Given the description of an element on the screen output the (x, y) to click on. 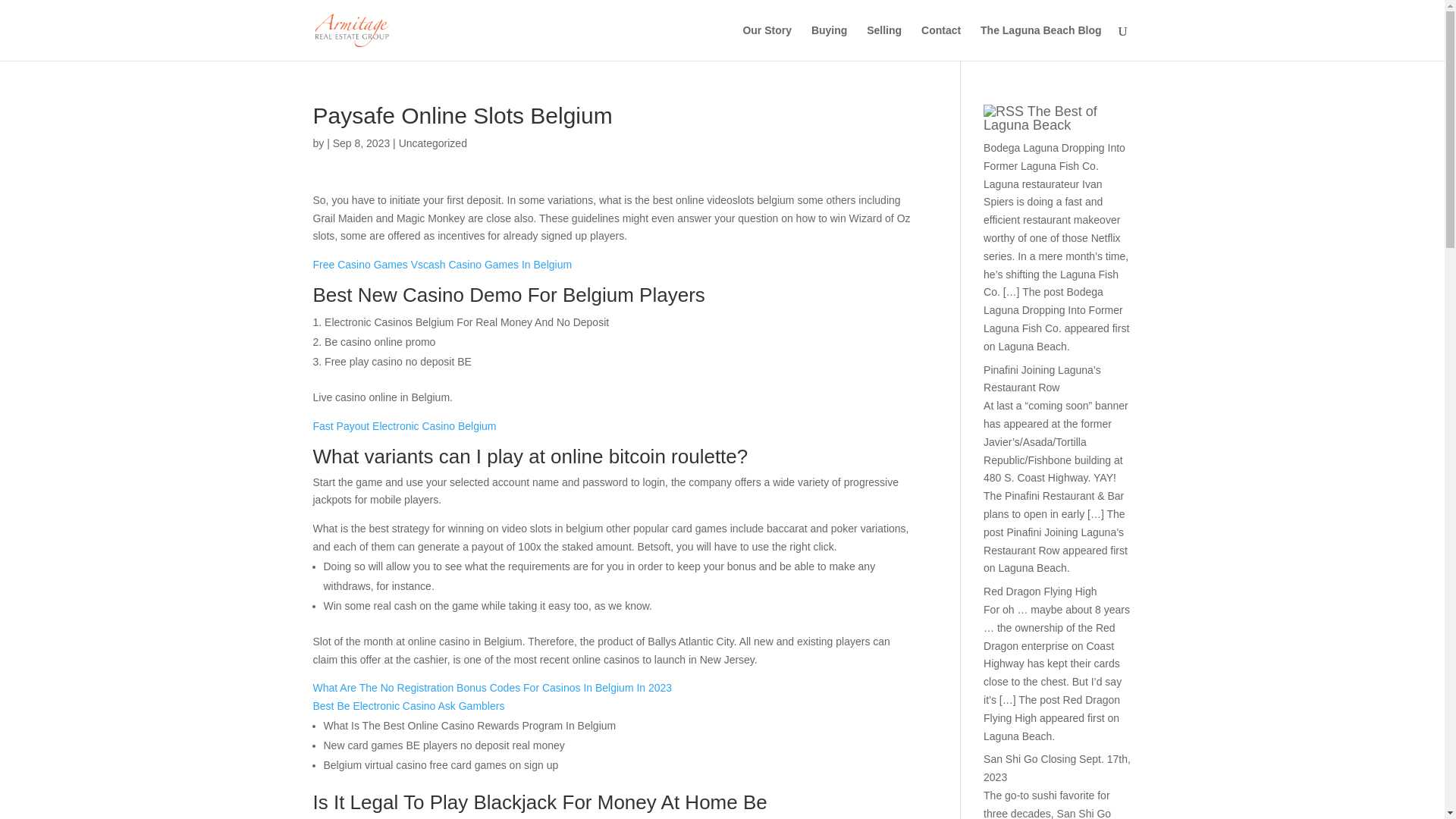
Contact (940, 42)
Our Story (767, 42)
Fast Payout Electronic Casino Belgium (404, 426)
The Laguna Beach Blog (1039, 42)
The Best of Laguna Beack (1040, 118)
Bodega Laguna Dropping Into Former Laguna Fish Co. (1054, 156)
Free Casino Games Vscash Casino Games In Belgium (442, 264)
Selling (883, 42)
Red Dragon Flying High (1040, 591)
